Given the description of an element on the screen output the (x, y) to click on. 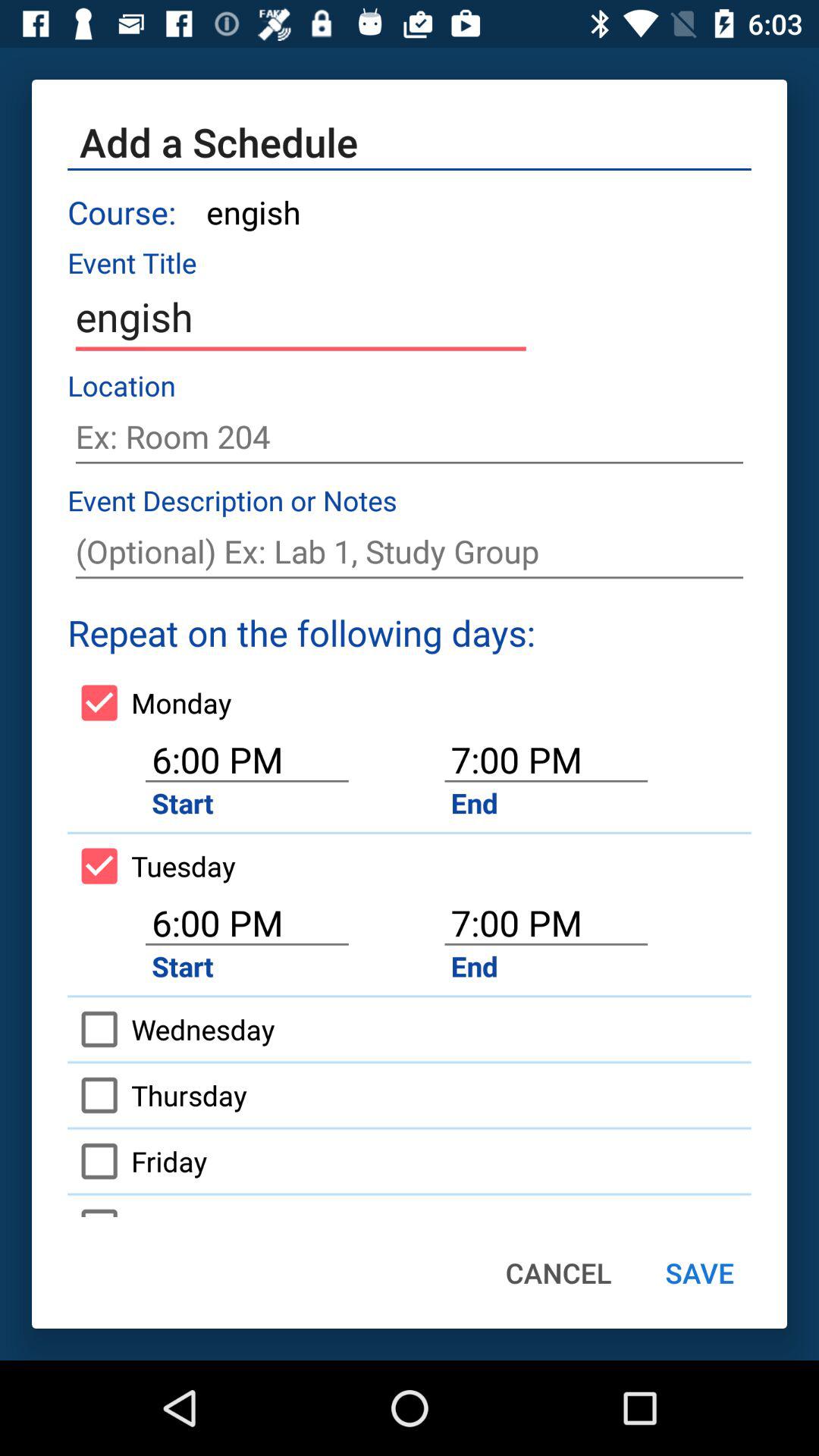
tap the icon next to the end (170, 1029)
